Given the description of an element on the screen output the (x, y) to click on. 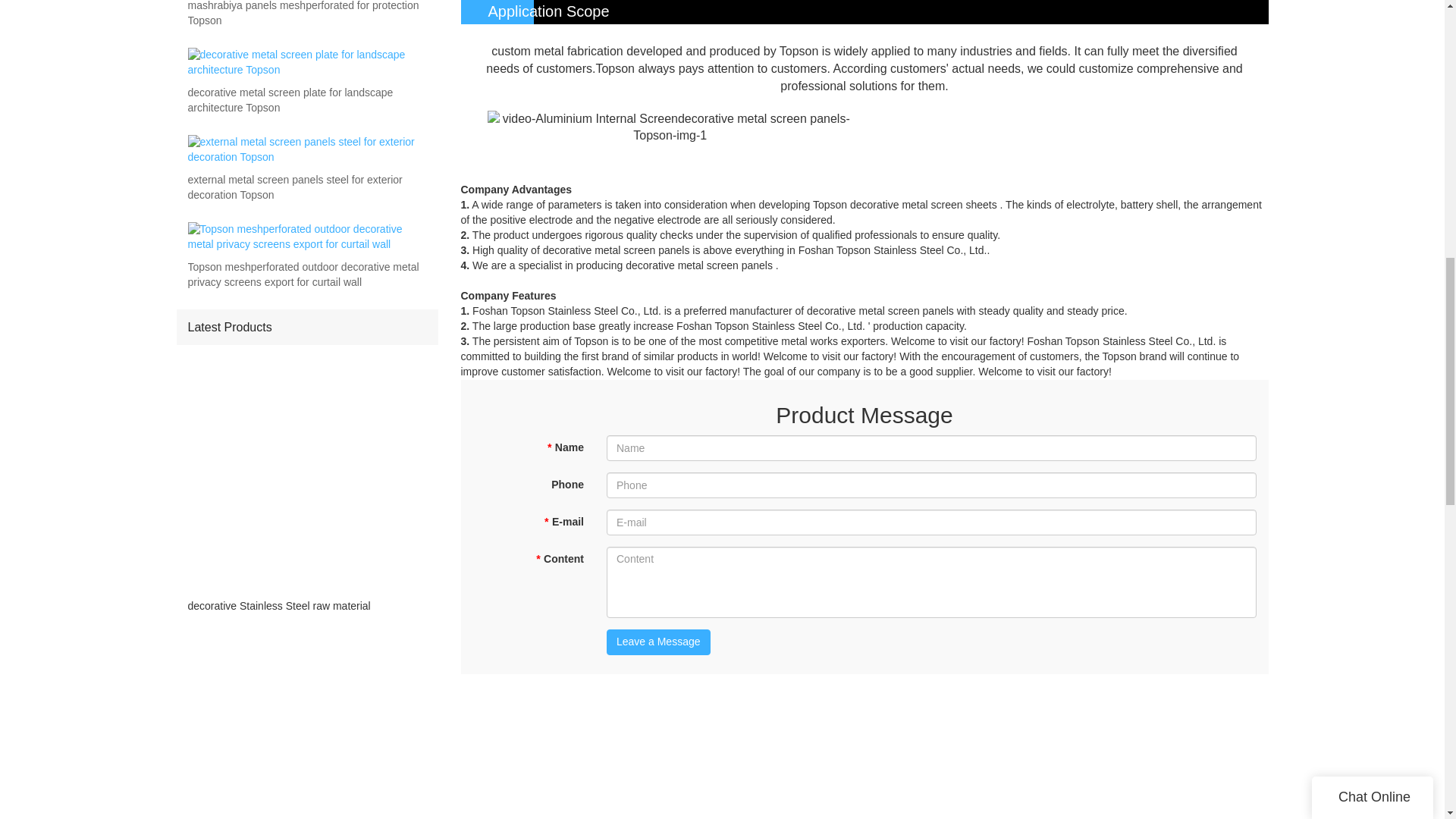
decorative Stainless Steel raw material (306, 605)
mashrabiya panels meshperforated for protection Topson (306, 14)
